Given the description of an element on the screen output the (x, y) to click on. 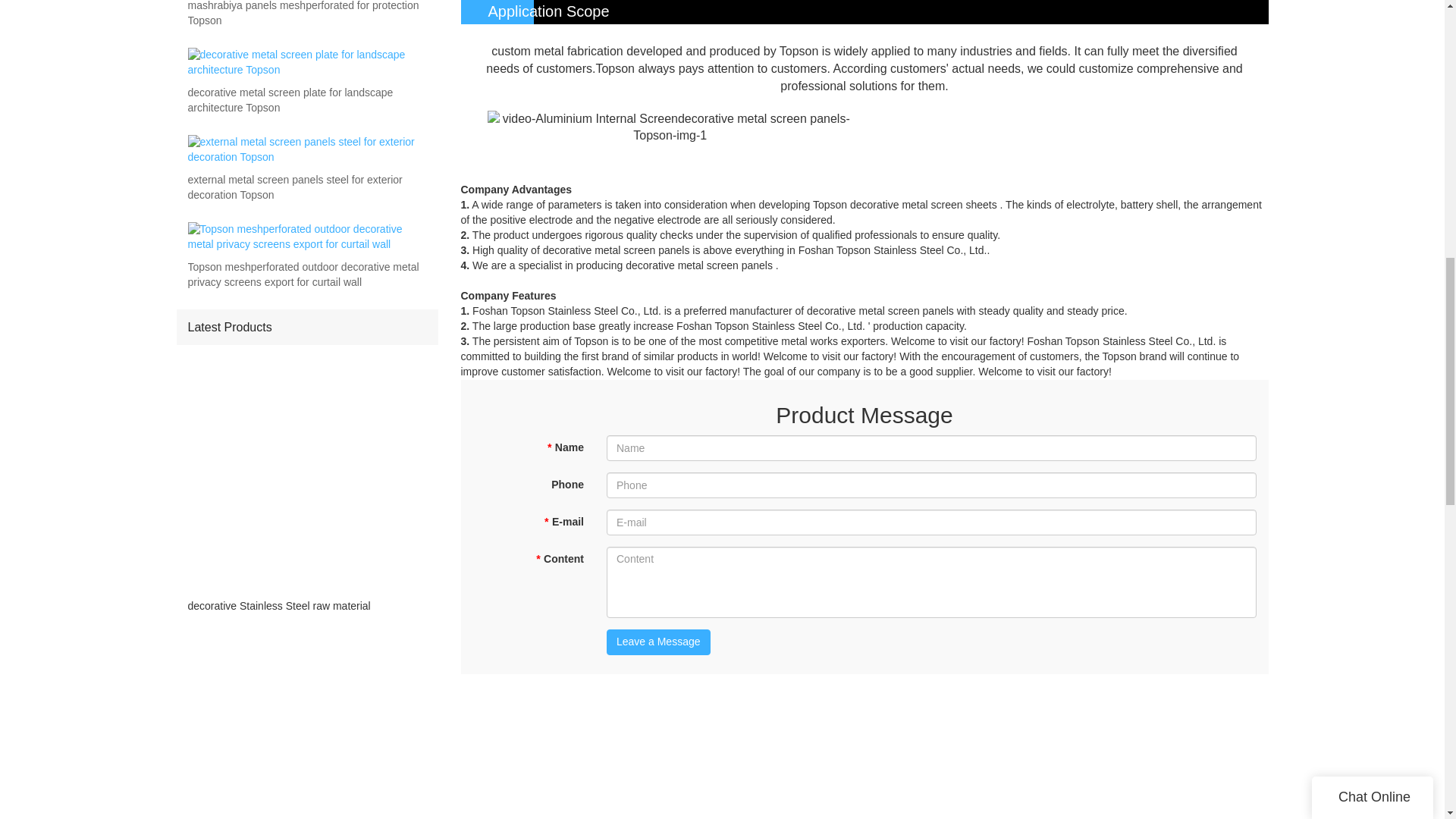
decorative Stainless Steel raw material (306, 605)
mashrabiya panels meshperforated for protection Topson (306, 14)
